Given the description of an element on the screen output the (x, y) to click on. 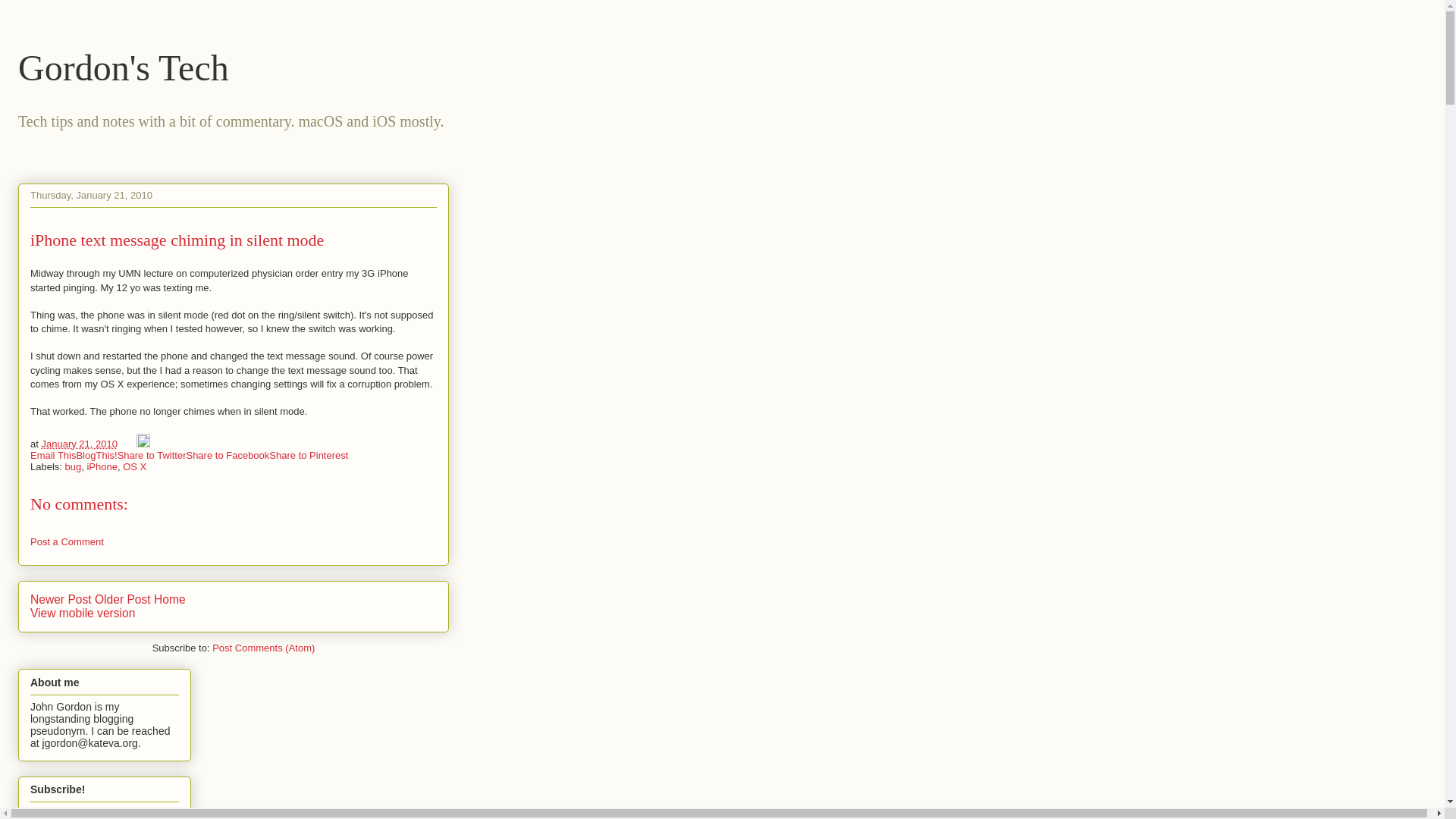
Email This (52, 455)
iPhone (100, 466)
Share to Twitter (151, 455)
Newer Post (60, 599)
Newer Post (60, 599)
Home (170, 599)
Share to Facebook (227, 455)
bug (73, 466)
Email This (52, 455)
View mobile version (82, 612)
Share to Facebook (227, 455)
January 21, 2010 (78, 443)
Older Post (122, 599)
Share to Pinterest (308, 455)
BlogThis! (95, 455)
